Given the description of an element on the screen output the (x, y) to click on. 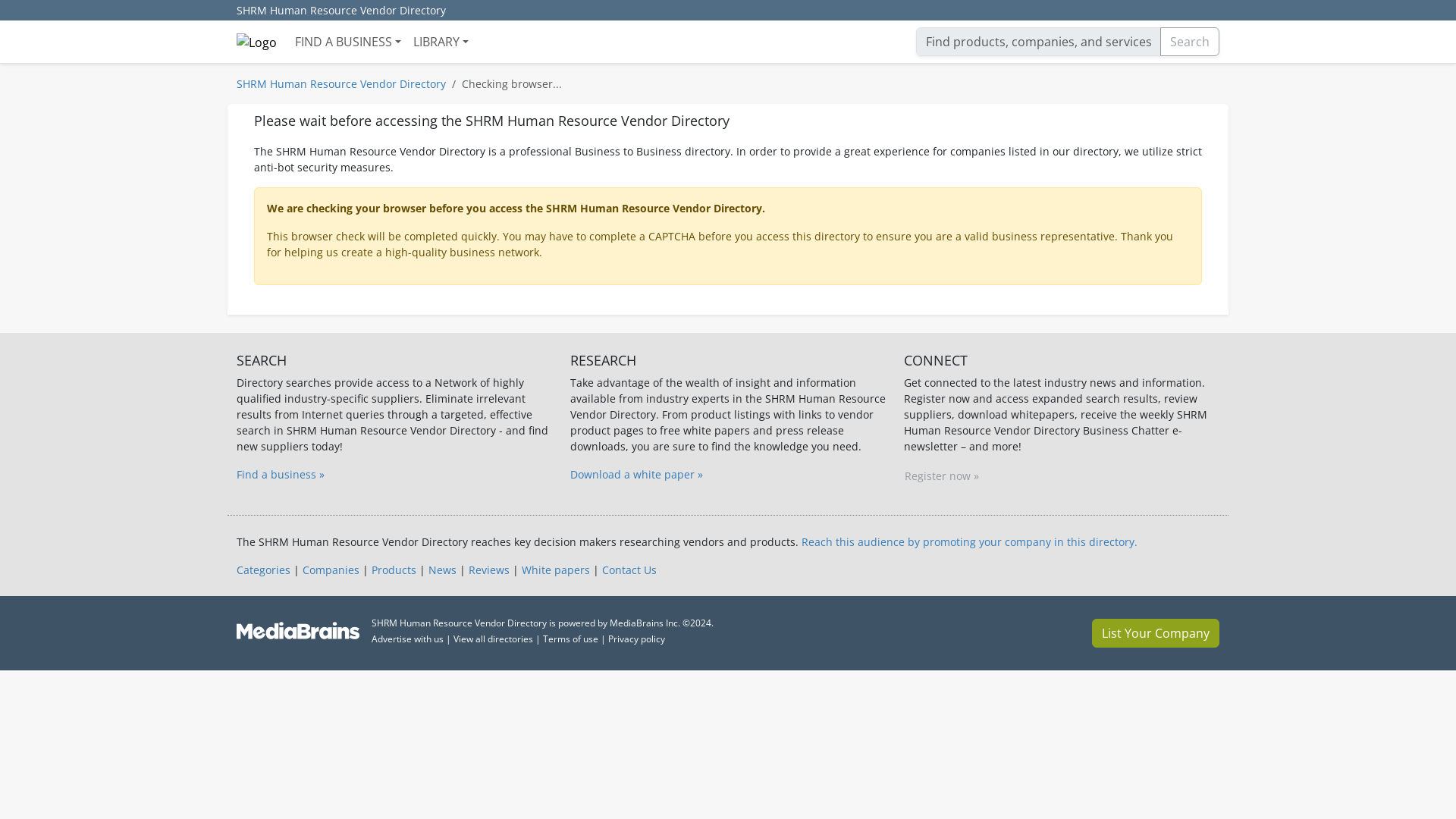
Reviews (488, 569)
Search (1190, 41)
Contact Us (629, 569)
Categories (262, 569)
Terms of use (570, 638)
Privacy policy (636, 638)
List Your Company (1156, 633)
View all directories (492, 638)
SHRM Human Resource Vendor Directory (340, 83)
